Given the description of an element on the screen output the (x, y) to click on. 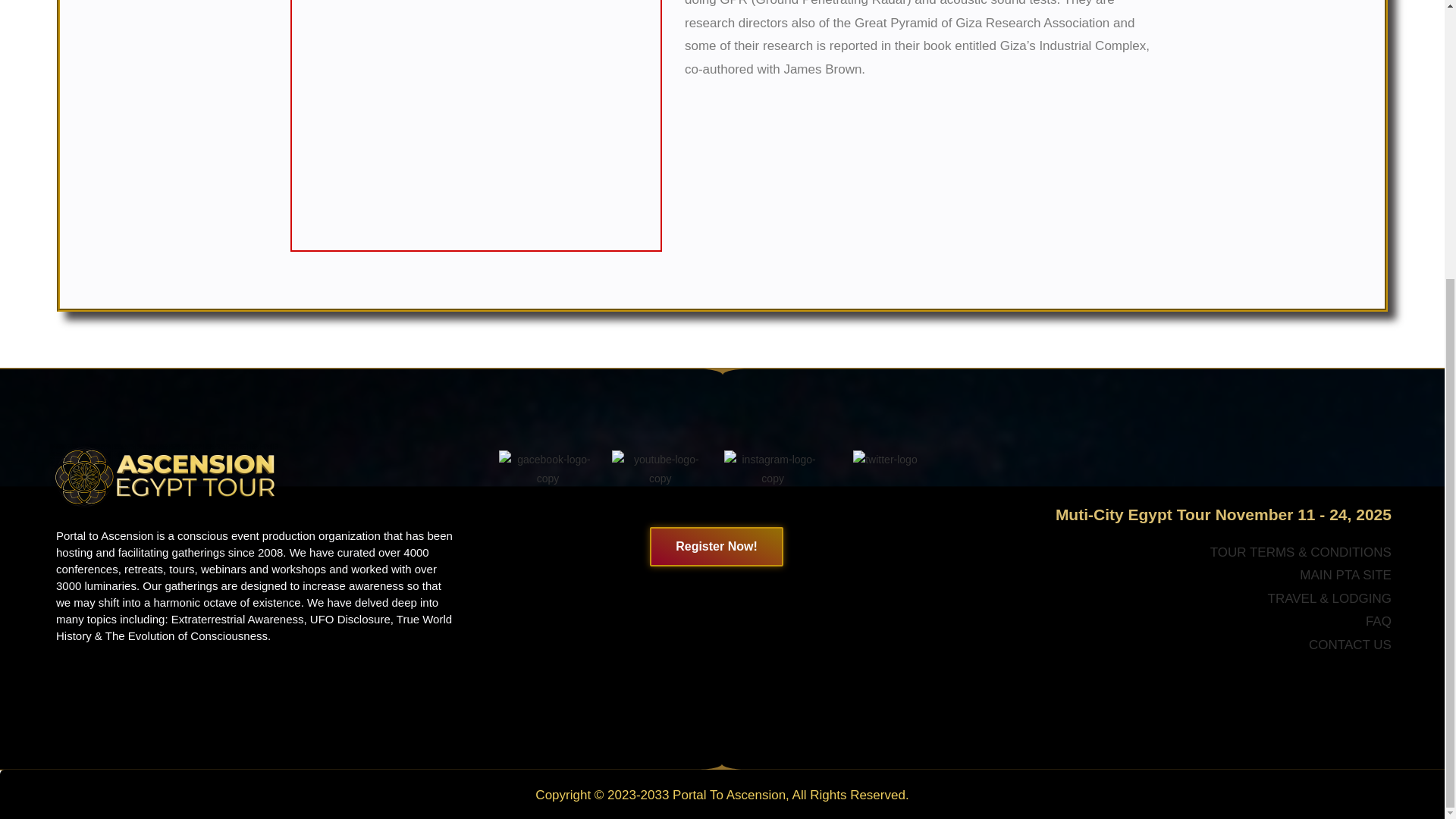
FAQ (1378, 621)
MAIN PTA SITE (1345, 587)
gacebook-logo-copy (547, 469)
twitter-logo (885, 459)
youtube-logo-copy (660, 469)
Register Now! (716, 546)
instagram-logo-copy (772, 469)
CONTACT US (1349, 644)
